Given the description of an element on the screen output the (x, y) to click on. 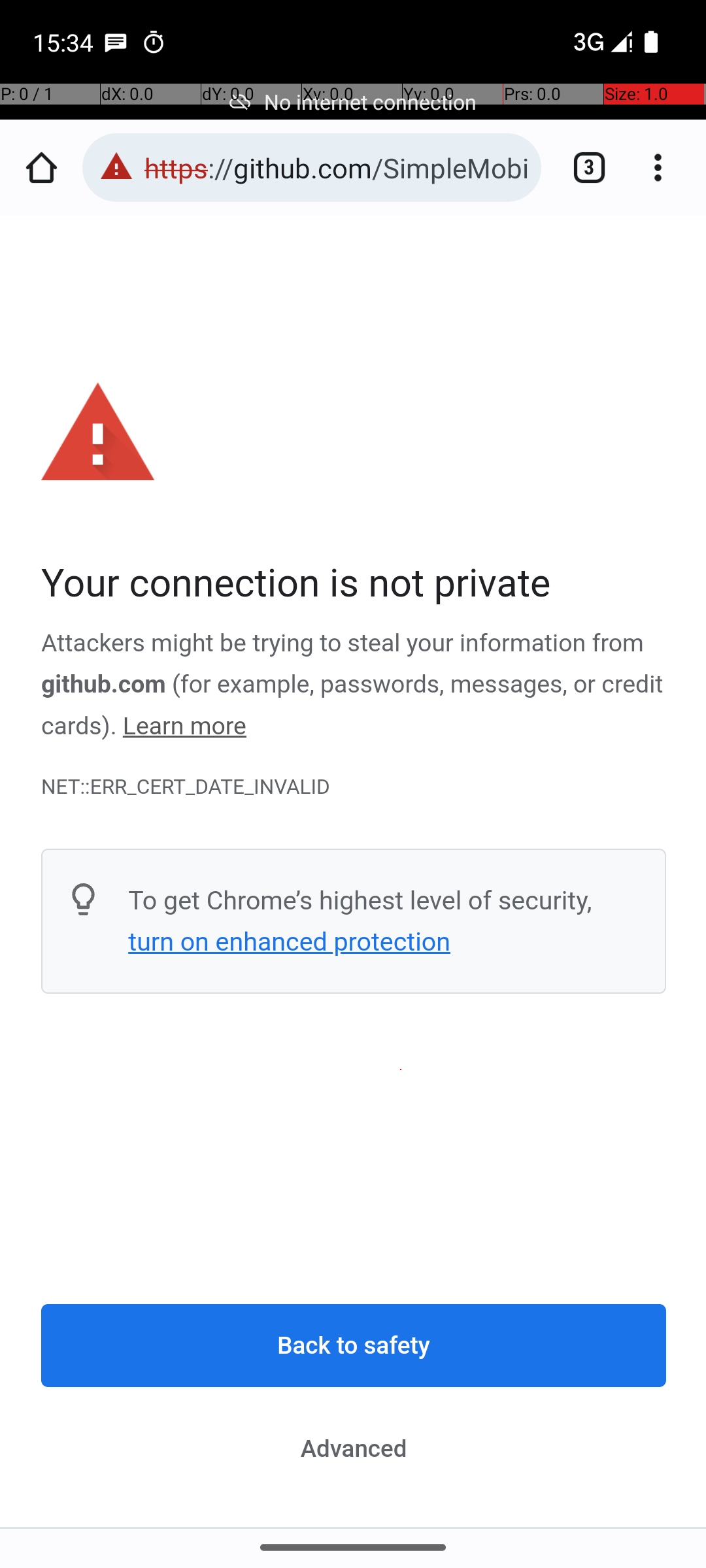
https://github.com/SimpleMobileTools Element type: android.widget.EditText (335, 167)
SMS Messenger notification: Amir dos Santos Element type: android.widget.ImageView (115, 41)
